Given the description of an element on the screen output the (x, y) to click on. 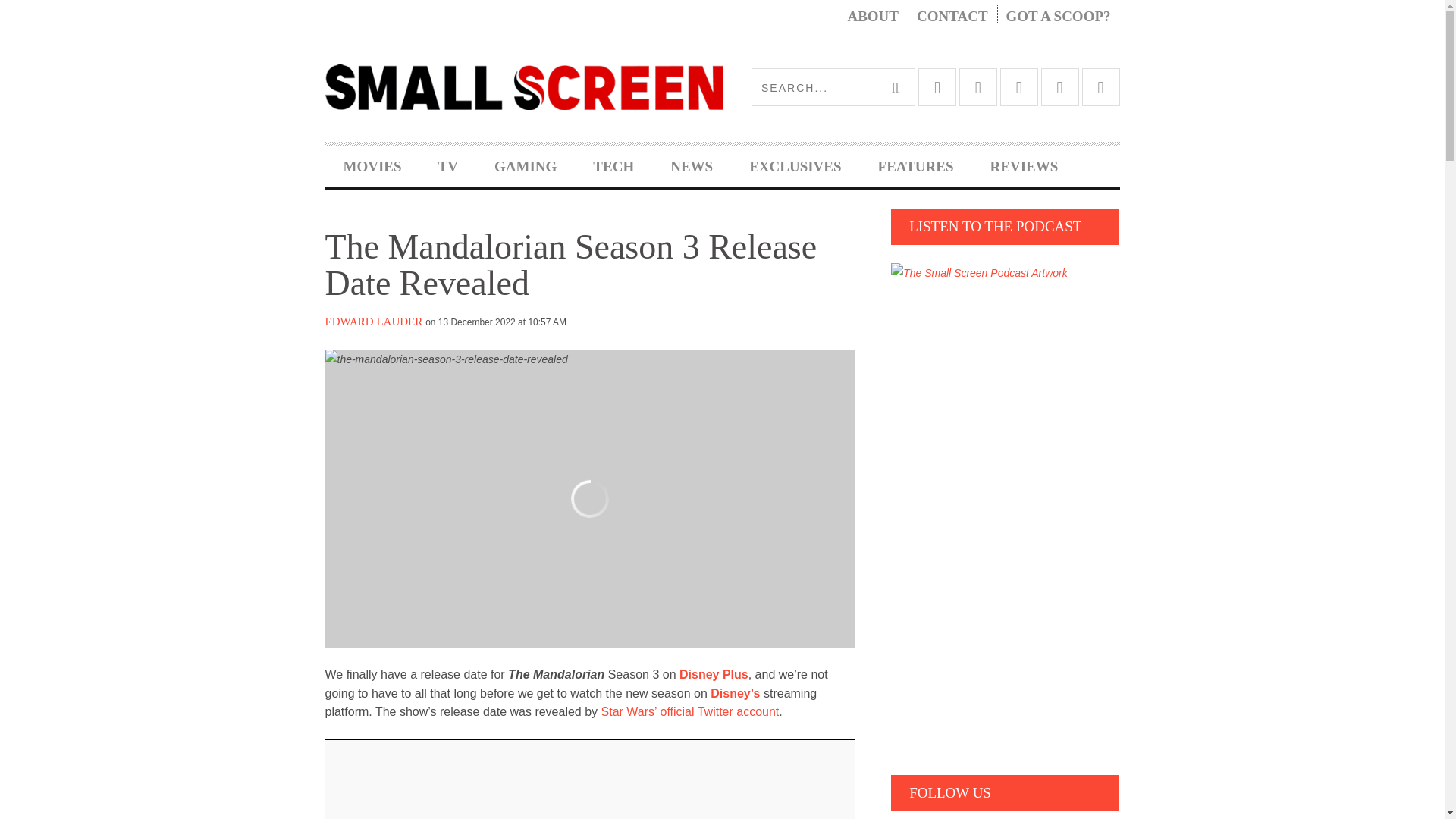
Small Screen (523, 86)
Posts by Edward Lauder (373, 321)
GOT A SCOOP? (1058, 16)
CONTACT (952, 16)
ABOUT (872, 16)
Listen To The Podcast (979, 272)
